Given the description of an element on the screen output the (x, y) to click on. 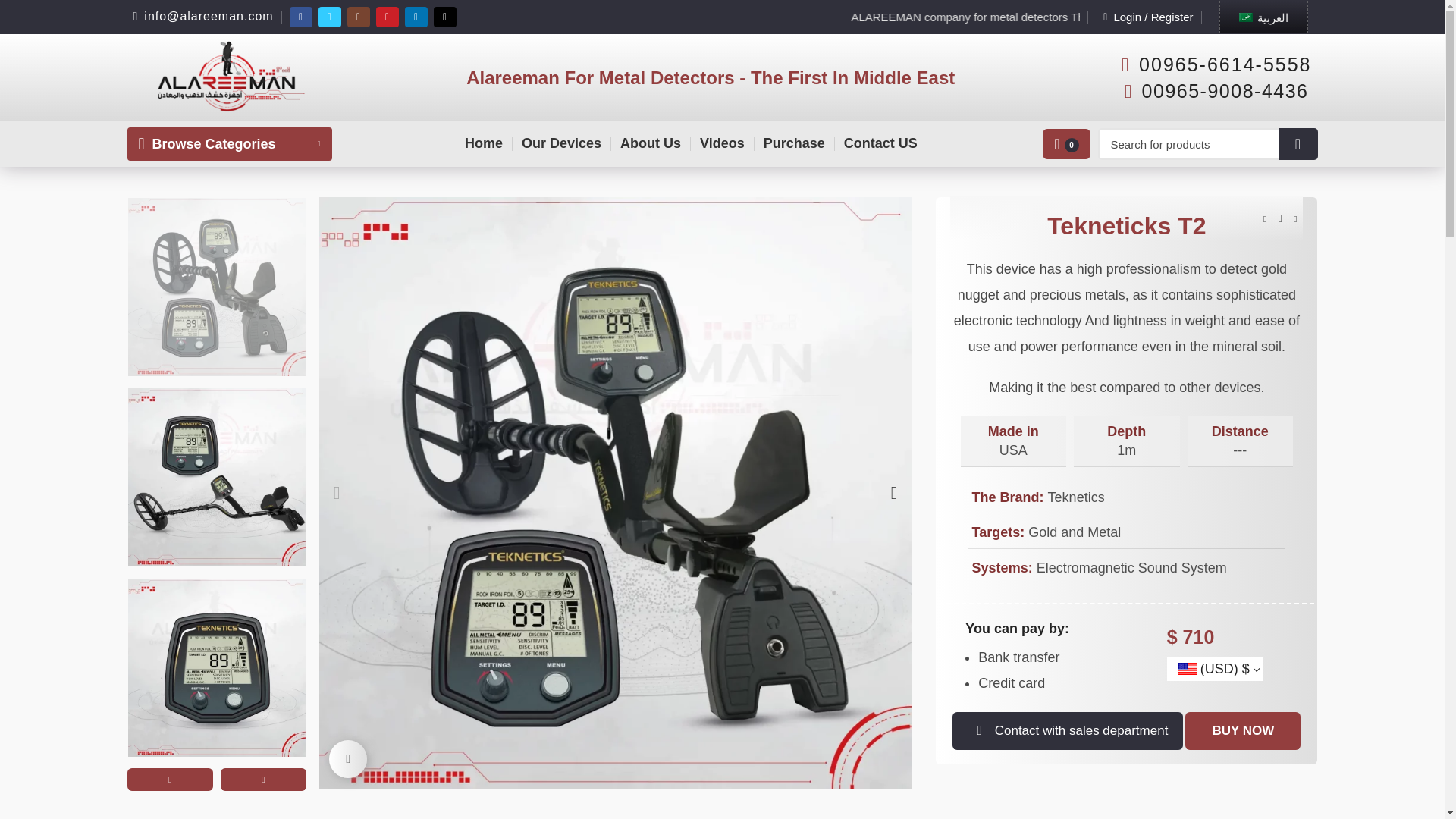
00965-9008-4436 (1211, 90)
SEARCH (1297, 143)
Search for products (1207, 143)
Tekneticks T2 - gold nuggets detector - Alareeman (216, 477)
Our Devices (561, 143)
About Us (650, 143)
Tekneticks T2 - gold nuggets detector - Alareeman (216, 286)
Purchase (794, 143)
My account (1147, 16)
0 (1066, 143)
Videos (722, 143)
Tekneticks T2 - gold nuggets detector - Alareeman (216, 667)
Shopping cart (1066, 143)
Contact US (880, 143)
